Given the description of an element on the screen output the (x, y) to click on. 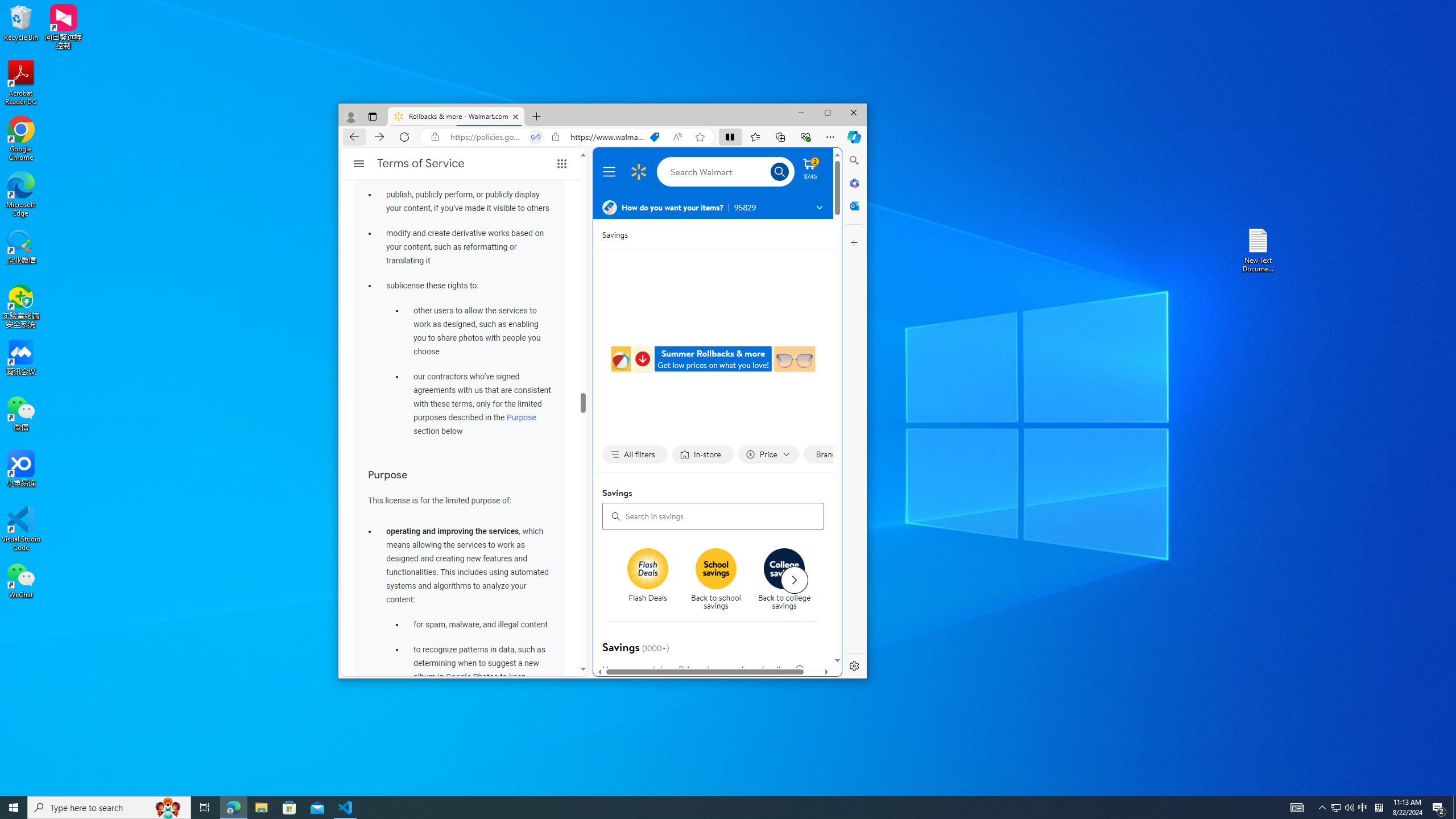
Search highlights icon opens search home window (167, 807)
Back to School savings (715, 568)
AutomationID: 4105 (1297, 807)
Type here to search (108, 807)
File Explorer (261, 807)
Back to College savings (784, 568)
Microsoft Edge (21, 194)
Microsoft Store (289, 807)
